Given the description of an element on the screen output the (x, y) to click on. 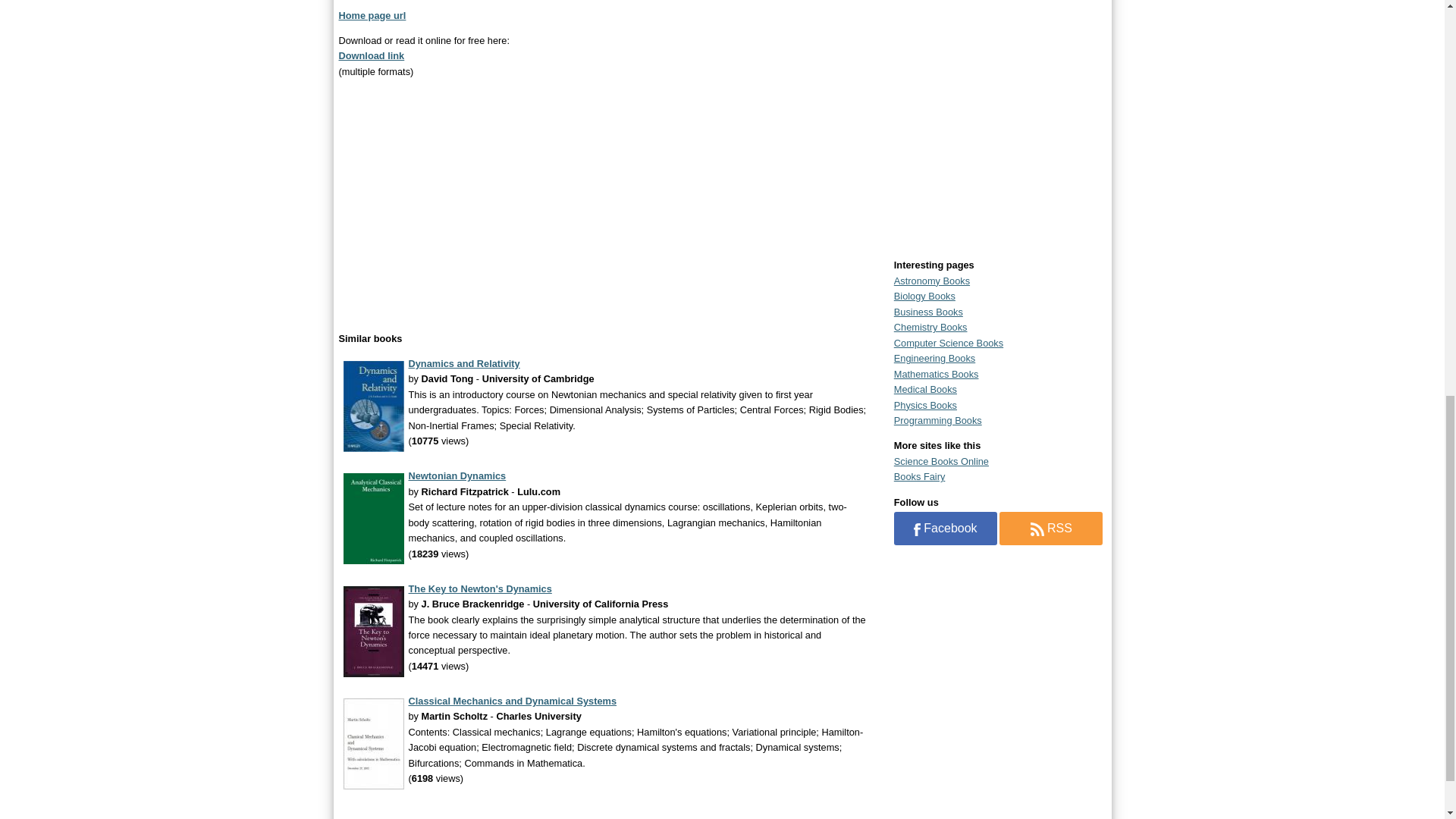
Classical Mechanics and Dynamical Systems (511, 700)
Download link (370, 55)
The Key to Newton's Dynamics (479, 588)
Newtonian Dynamics (456, 475)
Home page url (371, 15)
Dynamics and Relativity (463, 363)
